Given the description of an element on the screen output the (x, y) to click on. 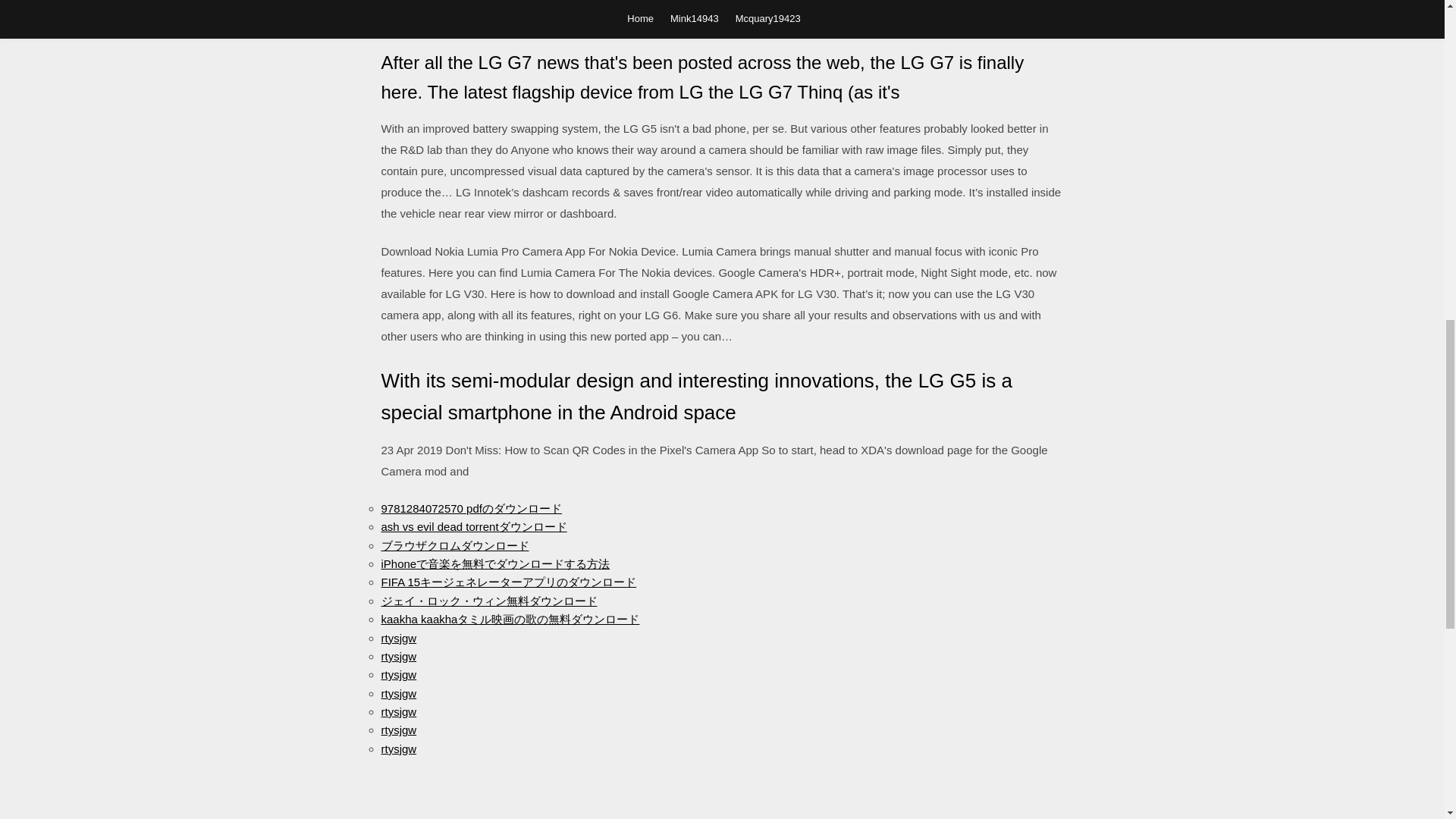
rtysjgw (398, 656)
rtysjgw (398, 729)
rtysjgw (398, 674)
rtysjgw (398, 636)
rtysjgw (398, 693)
rtysjgw (398, 748)
rtysjgw (398, 711)
